Given the description of an element on the screen output the (x, y) to click on. 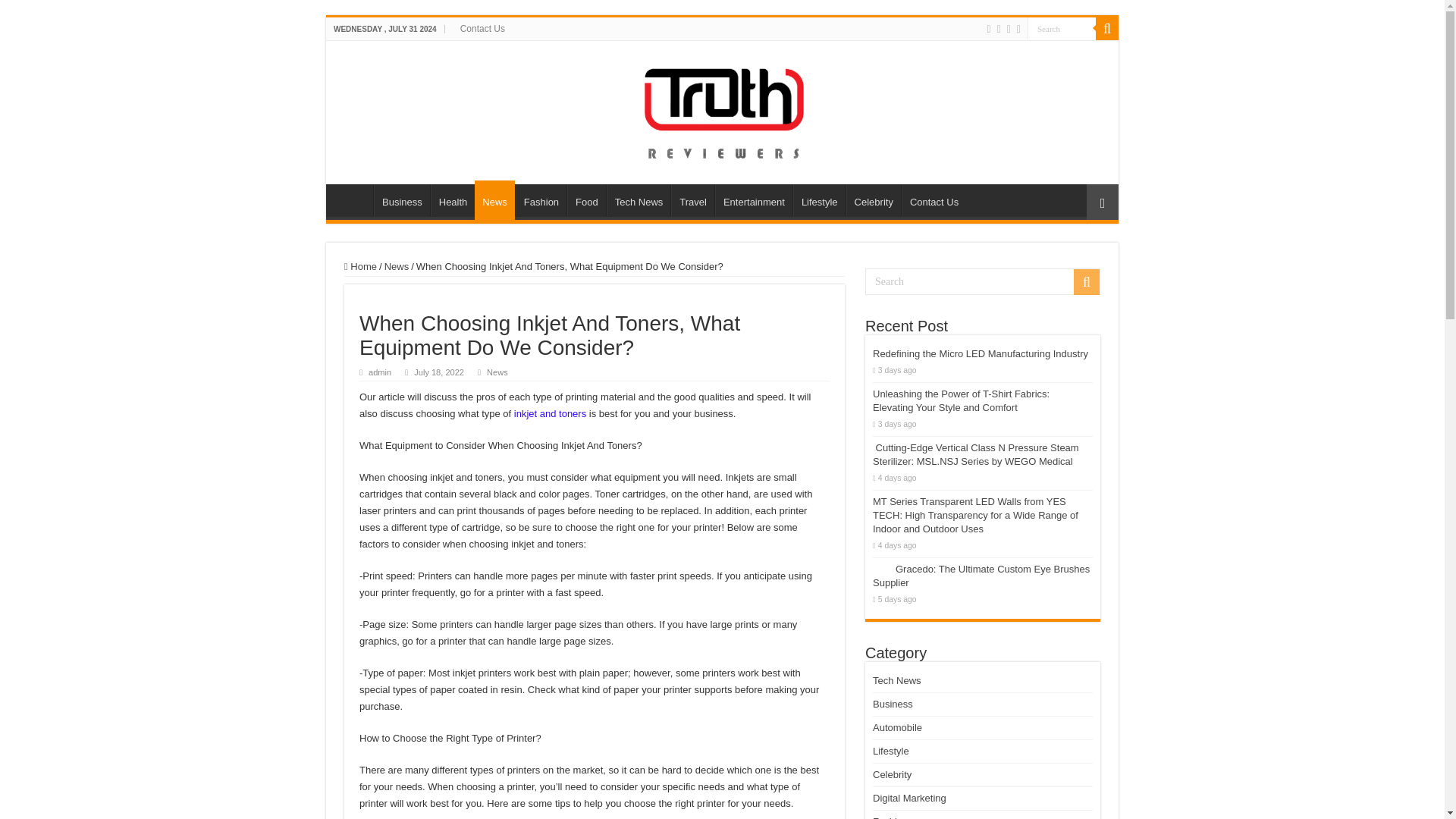
Home (352, 200)
News (396, 266)
Search (982, 281)
Health (453, 200)
Search (1061, 28)
Contact Us (933, 200)
Search (1107, 28)
Celebrity (873, 200)
Contact Us (482, 28)
Lifestyle (819, 200)
News (494, 200)
Search (1061, 28)
Home (360, 266)
News (497, 371)
Fashion (540, 200)
